Given the description of an element on the screen output the (x, y) to click on. 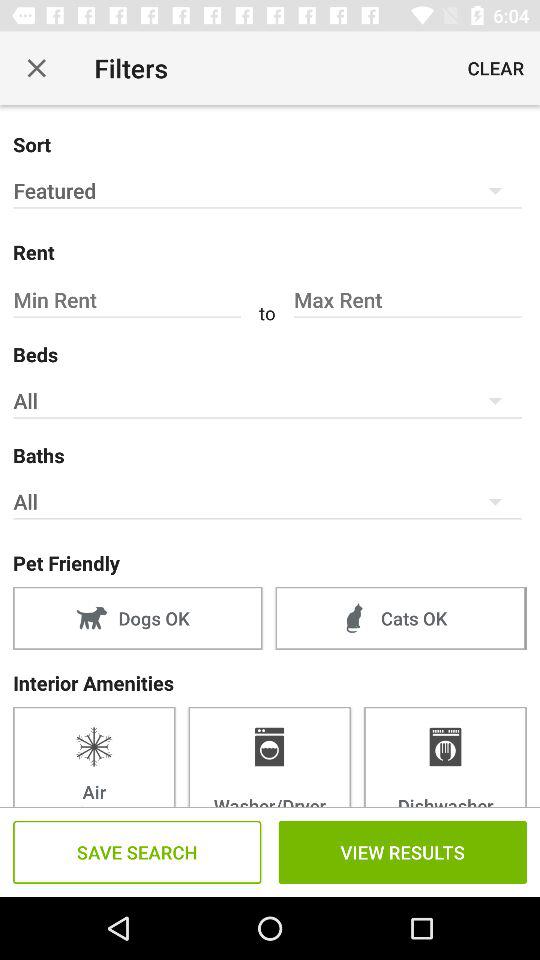
close (36, 68)
